Given the description of an element on the screen output the (x, y) to click on. 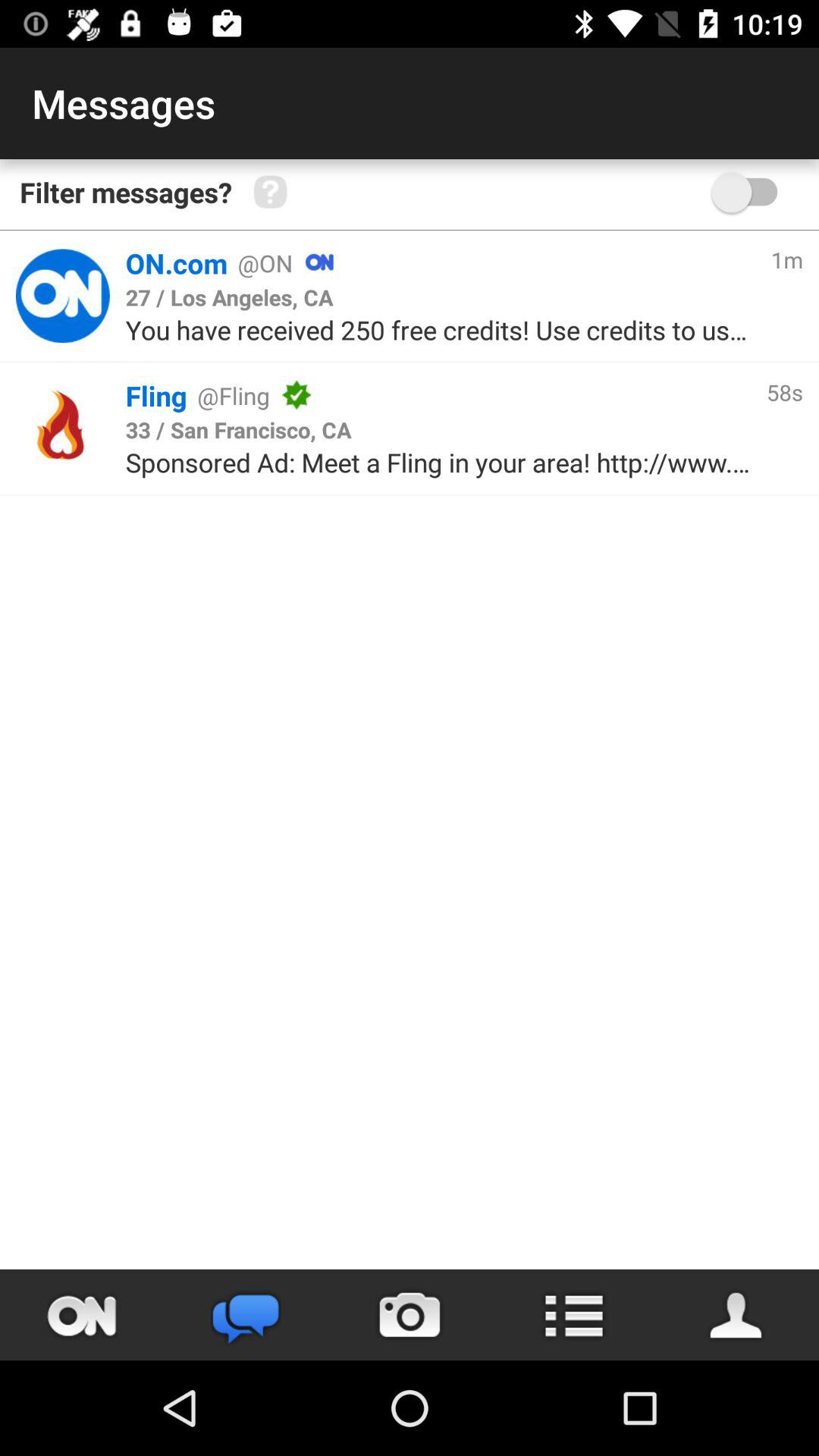
scroll until the you have received item (440, 329)
